Given the description of an element on the screen output the (x, y) to click on. 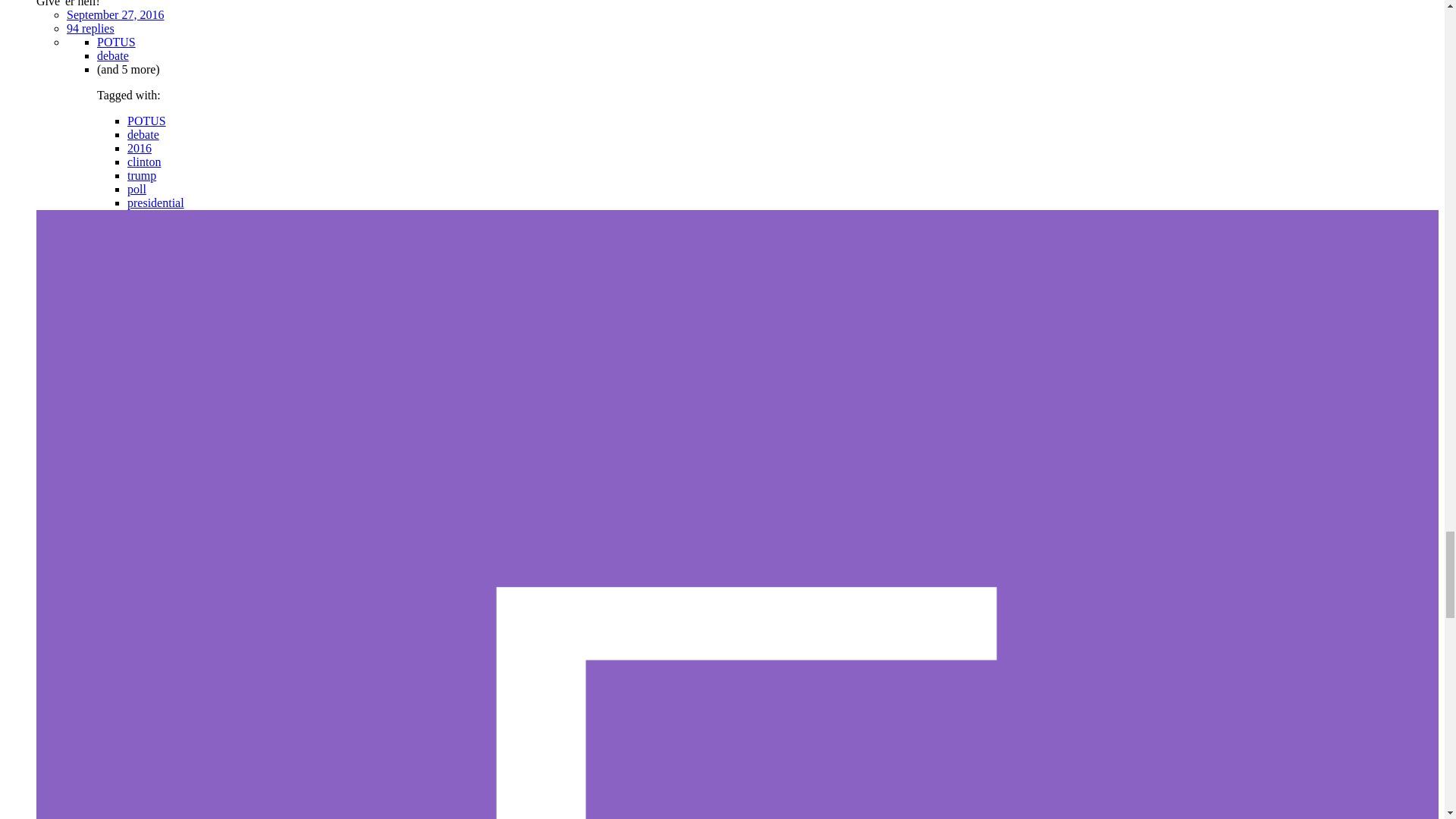
Find other content tagged with 'debate' (113, 55)
Find other content tagged with 'POTUS' (116, 42)
